Given the description of an element on the screen output the (x, y) to click on. 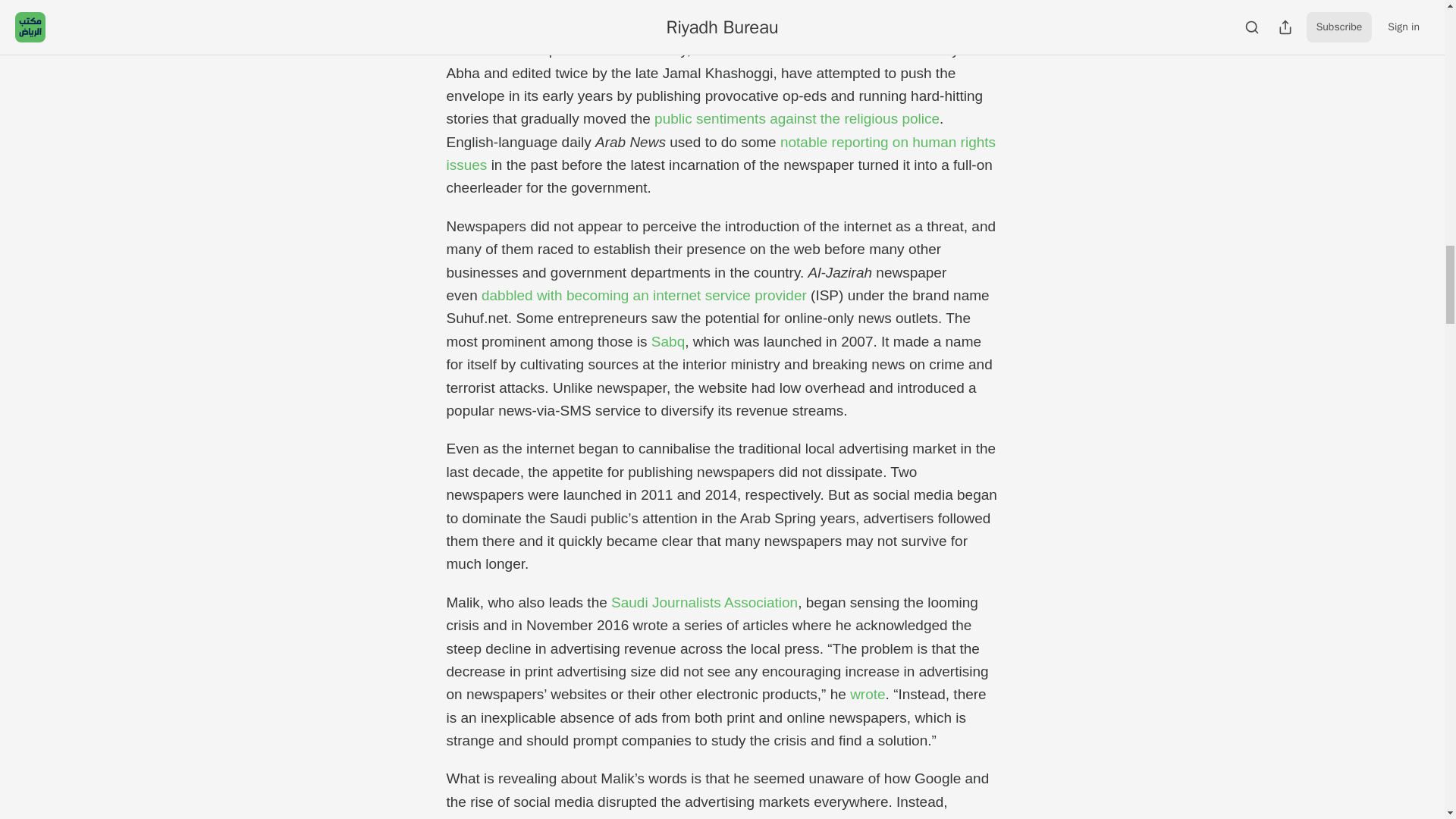
public sentiments against the religious police (796, 118)
dabbled with becoming an internet service provider (643, 295)
blames (488, 817)
notable reporting on human rights issues (720, 153)
wrote (867, 693)
Saudi Journalists Association (704, 602)
Sabq (667, 341)
